Given the description of an element on the screen output the (x, y) to click on. 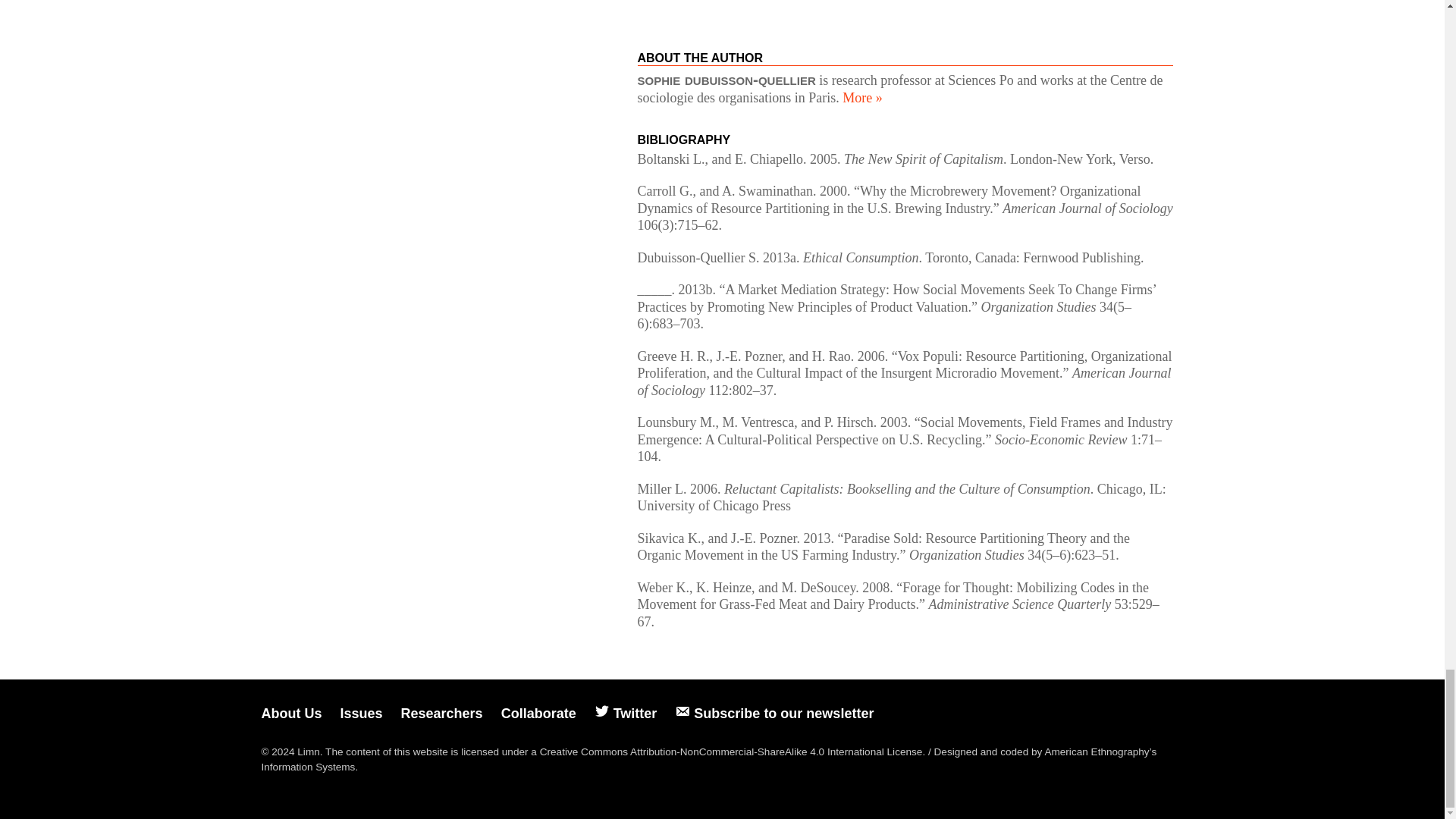
Issues (360, 713)
About Us (290, 713)
Subscribe to our newsletter (774, 713)
Researchers (442, 713)
Twitter (626, 713)
Collaborate (538, 713)
